Given the description of an element on the screen output the (x, y) to click on. 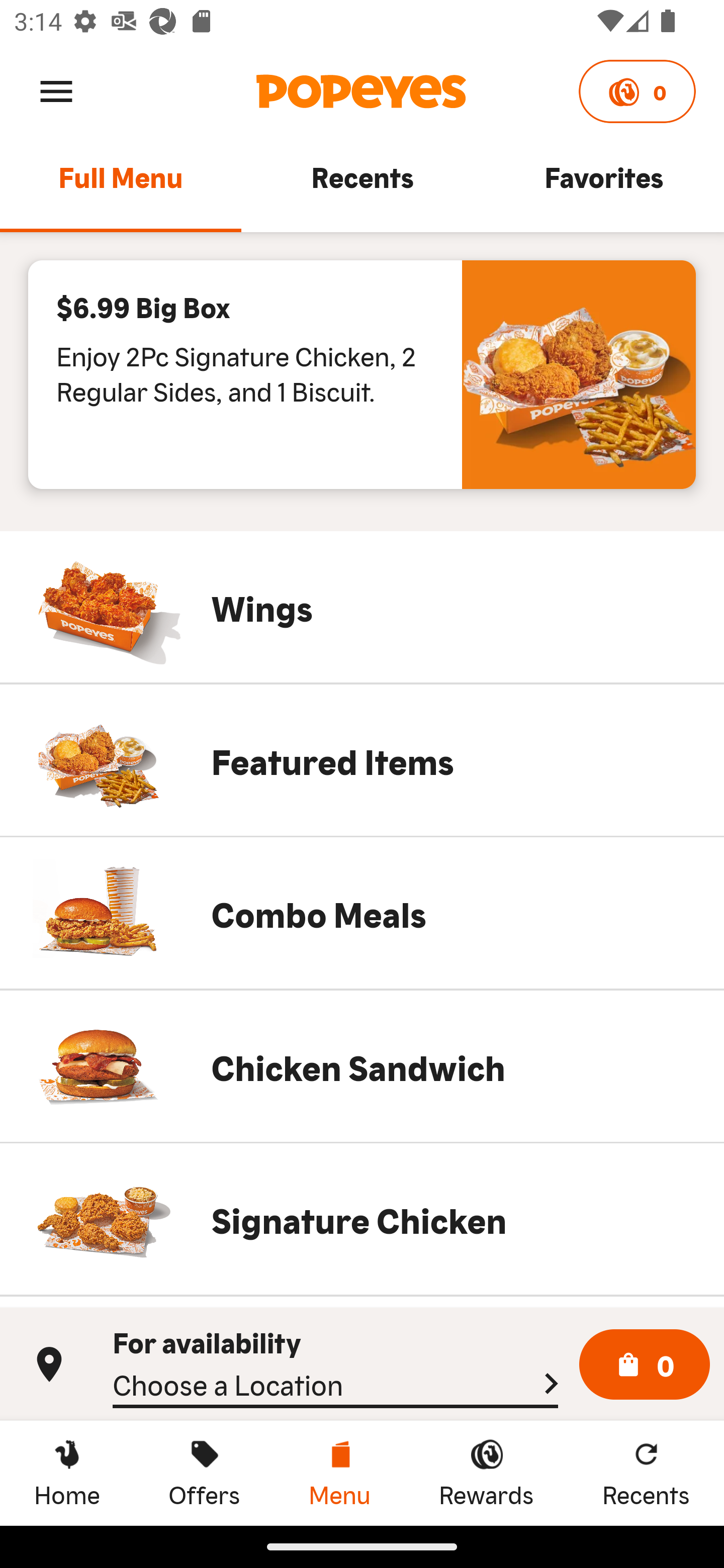
Menu  (56, 90)
0 Points 0 (636, 91)
Full Menu (120, 186)
Recents (361, 186)
Favorites (603, 186)
Wings, Wings Wings Wings (362, 606)
0 Cart total  0 (644, 1364)
Home Home Home (66, 1472)
Offers Offers Offers (203, 1472)
Menu, current page Menu Menu, current page (339, 1472)
Rewards Rewards Rewards (486, 1472)
Recents Recents Recents (646, 1472)
